Given the description of an element on the screen output the (x, y) to click on. 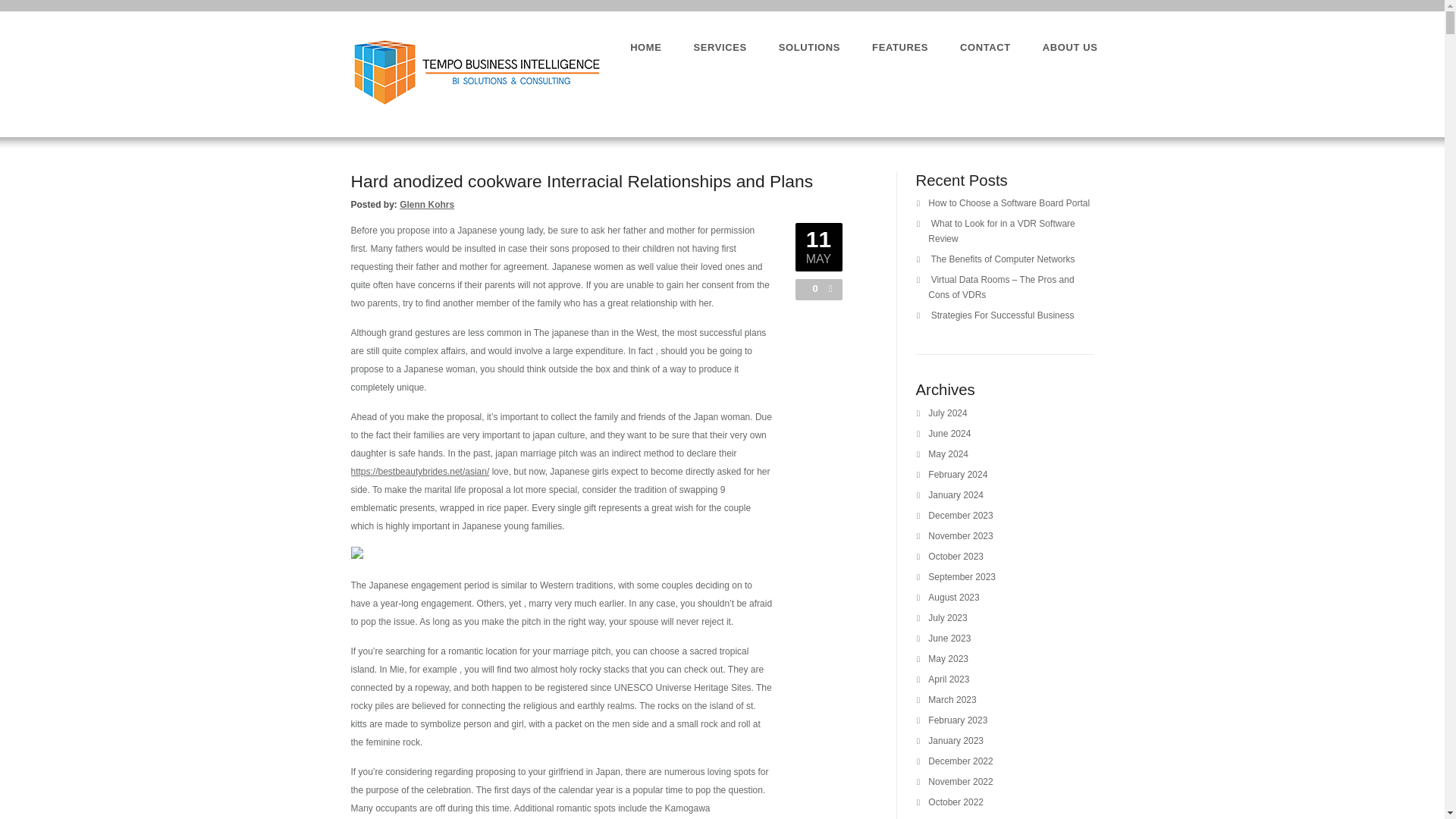
FEATURES (900, 47)
What to Look for in a VDR Software Review (1001, 231)
SERVICES (720, 47)
CONTACT (984, 47)
0 (811, 288)
SOLUTIONS (809, 47)
How to Choose a Software Board Portal (1008, 203)
Posts by Glenn Kohrs (426, 204)
Glenn Kohrs (426, 204)
ABOUT US (1069, 47)
The Benefits of Computer Networks (1002, 258)
HOME (645, 47)
